Given the description of an element on the screen output the (x, y) to click on. 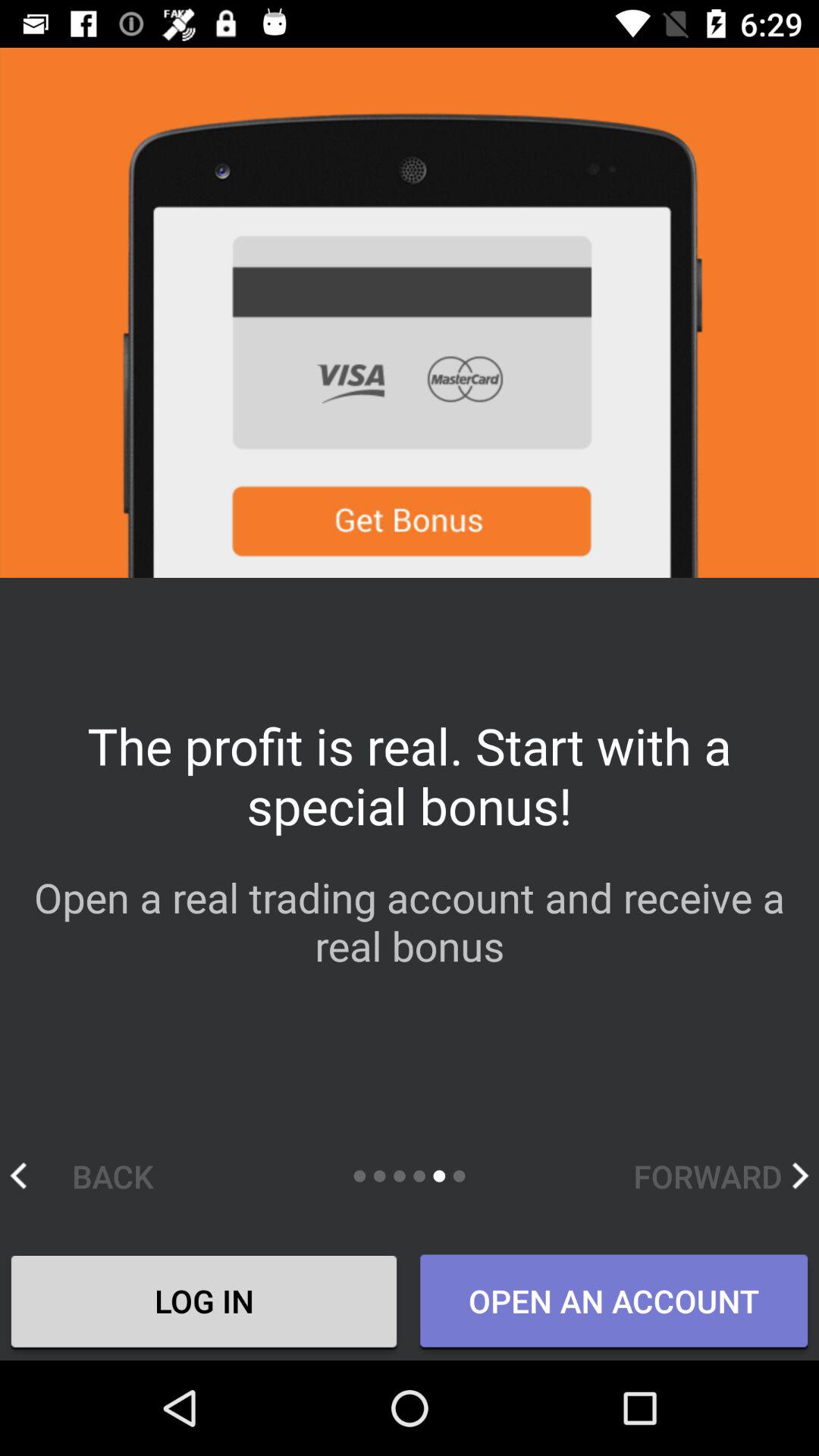
launch item above the log in item (97, 1175)
